Given the description of an element on the screen output the (x, y) to click on. 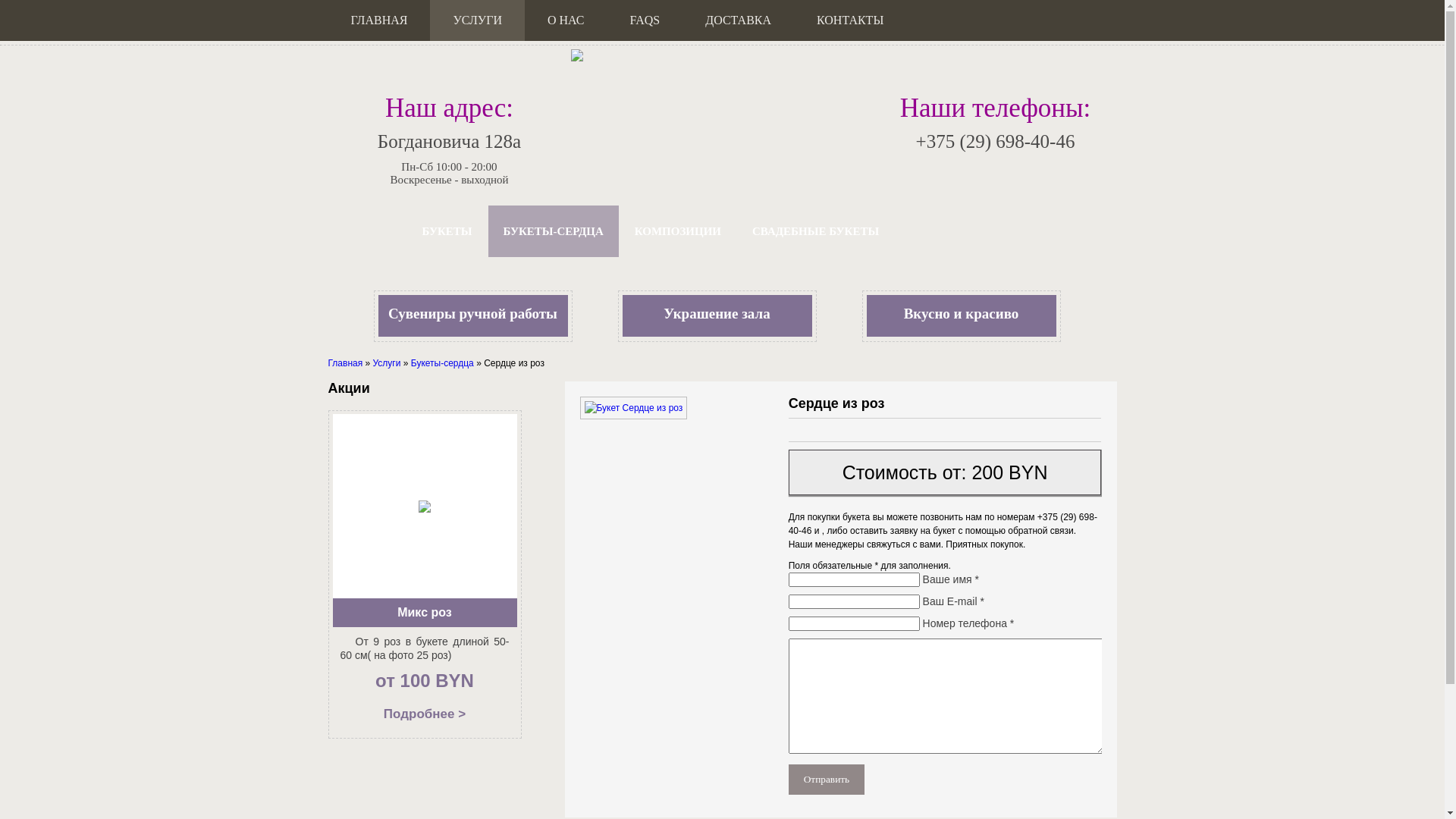
FAQS Element type: text (645, 20)
